Given the description of an element on the screen output the (x, y) to click on. 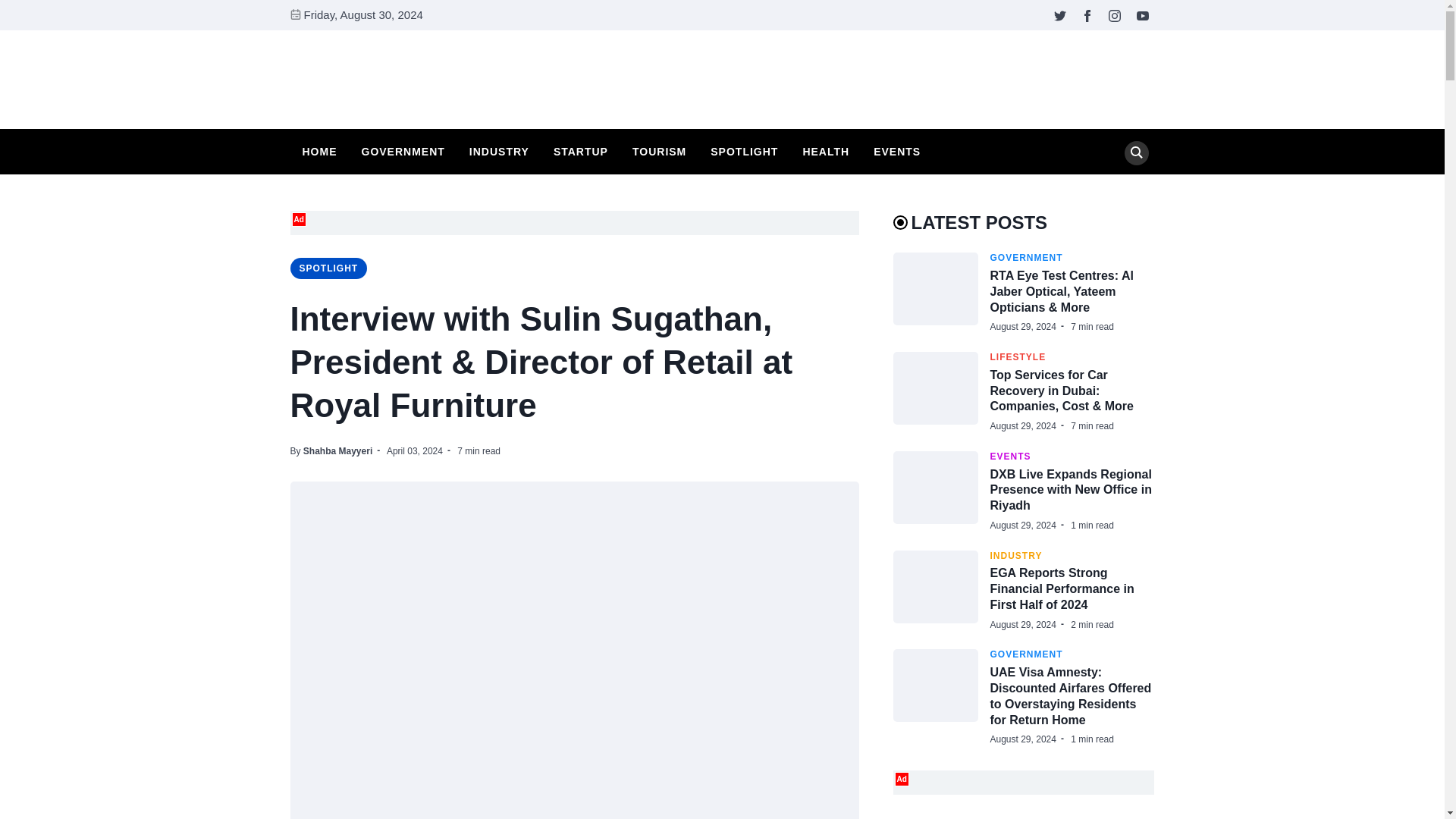
TOURISM (659, 151)
HEALTH (826, 151)
GOVERNMENT (402, 151)
STARTUP (580, 151)
SPOTLIGHT (744, 151)
Shahba Mayyeri (337, 450)
INDUSTRY (499, 151)
SPOTLIGHT (327, 268)
EVENTS (896, 151)
HOME (318, 151)
